Given the description of an element on the screen output the (x, y) to click on. 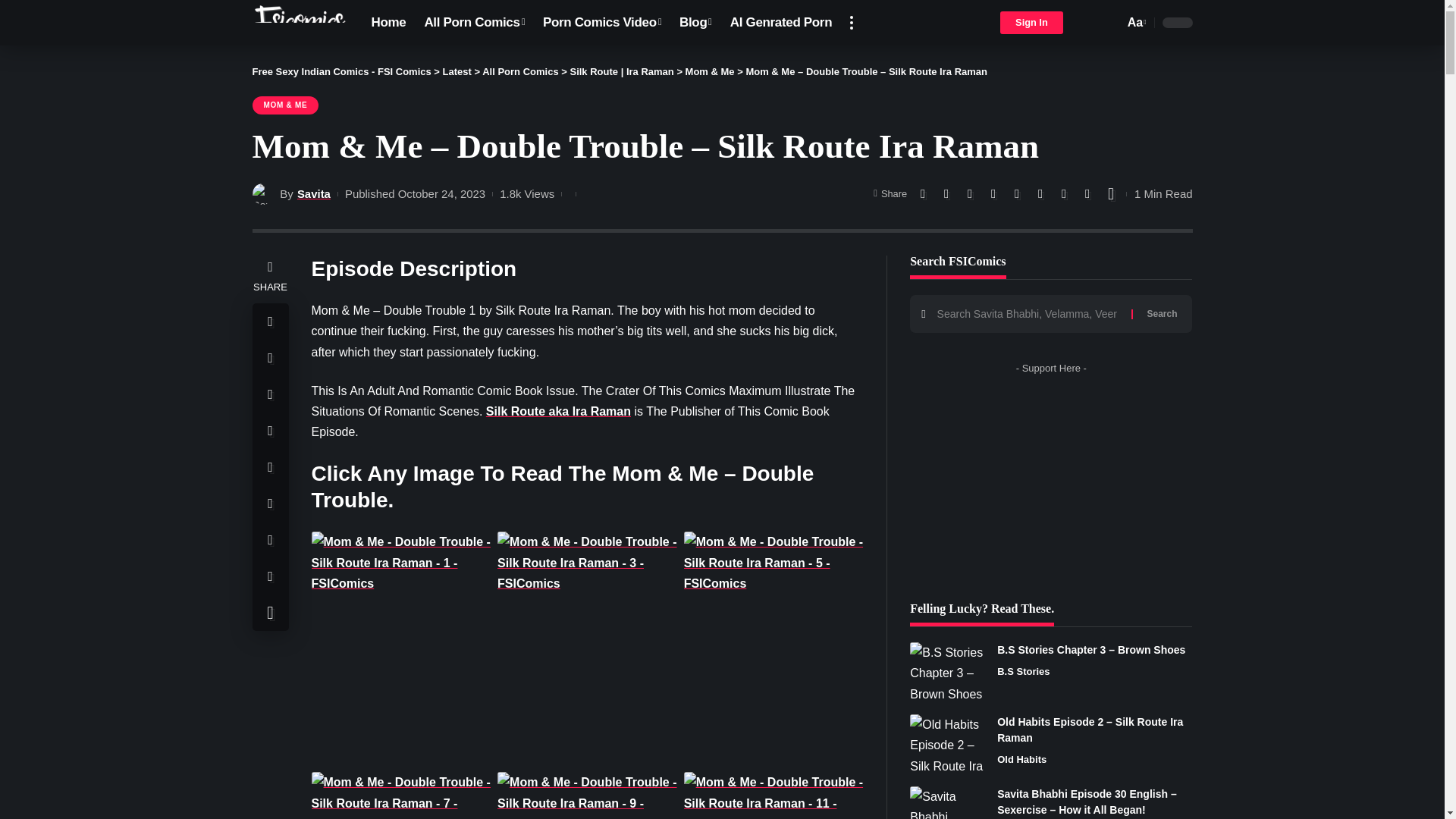
Home (388, 22)
Search (1161, 313)
All Porn Comics (474, 22)
Go to the All Porn Comics Category archives. (519, 71)
Go to Free Sexy Indian Comics - FSI Comics. (340, 71)
Go to Latest. (456, 71)
Free Sexy Indian Comics - FSI Comics (298, 22)
